Given the description of an element on the screen output the (x, y) to click on. 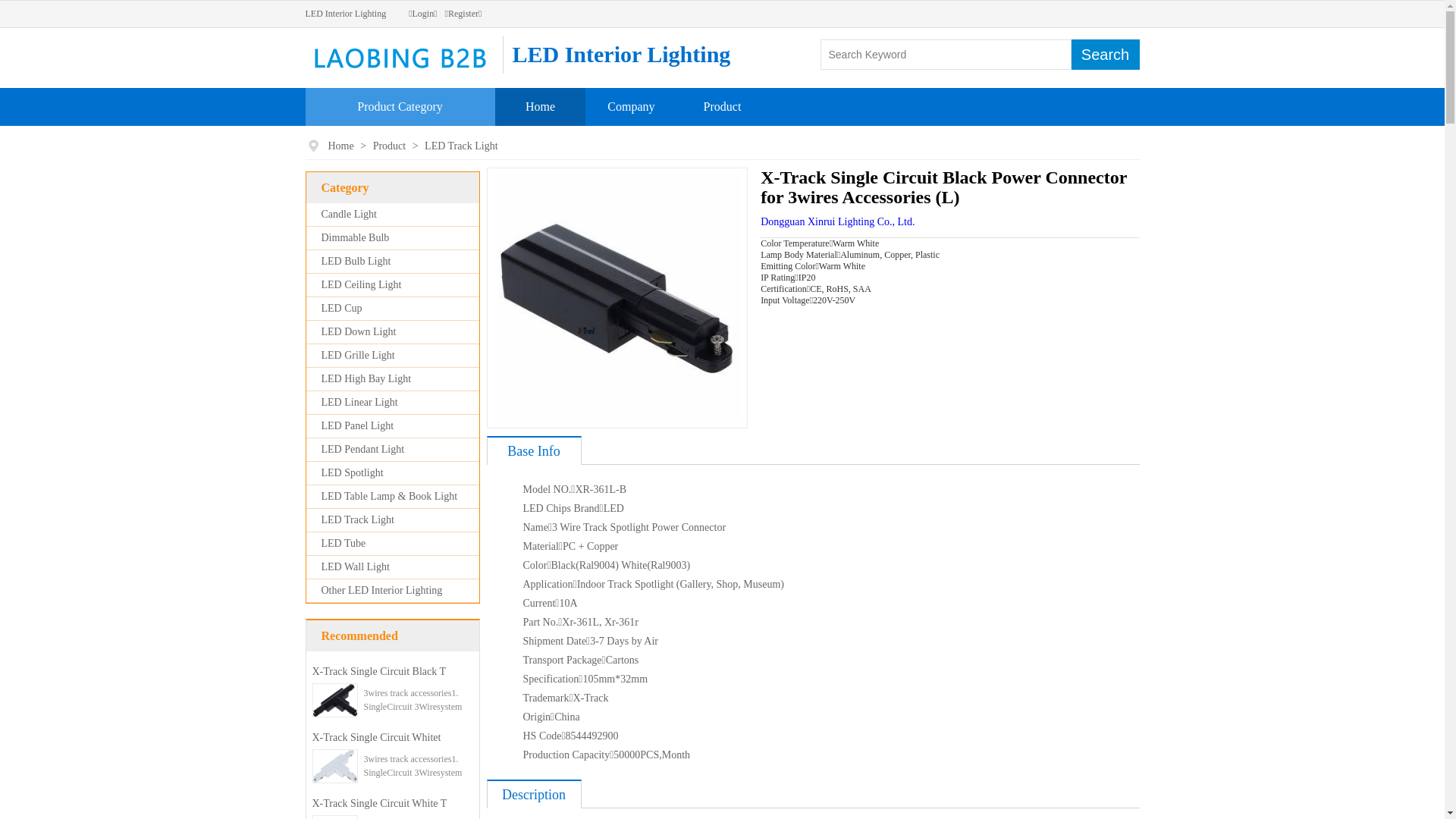
Home Element type: text (540, 106)
Home Element type: text (340, 145)
Dongguan Xinrui Lighting Co., Ltd. Element type: text (837, 221)
Product Element type: text (722, 106)
LED Wall Light Element type: text (355, 566)
Other LED Interior Lighting Element type: text (381, 590)
LED Interior Lighting Element type: text (344, 13)
LED Tube Element type: text (343, 543)
Product Category Element type: text (399, 106)
LED Down Light Element type: text (358, 331)
Dimmable Bulb Element type: text (355, 237)
LED Track Light Element type: text (357, 519)
LED Bulb Light Element type: text (356, 260)
LED Spotlight Element type: text (352, 472)
LED Table Lamp & Book Light Element type: text (389, 496)
LED Panel Light Element type: text (357, 425)
LED High Bay Light Element type: text (366, 378)
LED Grille Light Element type: text (358, 354)
Company Element type: text (630, 106)
LED Ceiling Light Element type: text (361, 284)
LED Linear Light Element type: text (359, 401)
Candle Light Element type: text (349, 213)
Search Element type: text (1104, 54)
LED Cup Element type: text (341, 307)
Product Element type: text (390, 145)
LED Track Light Element type: text (460, 145)
LED Pendant Light Element type: text (362, 449)
